Given the description of an element on the screen output the (x, y) to click on. 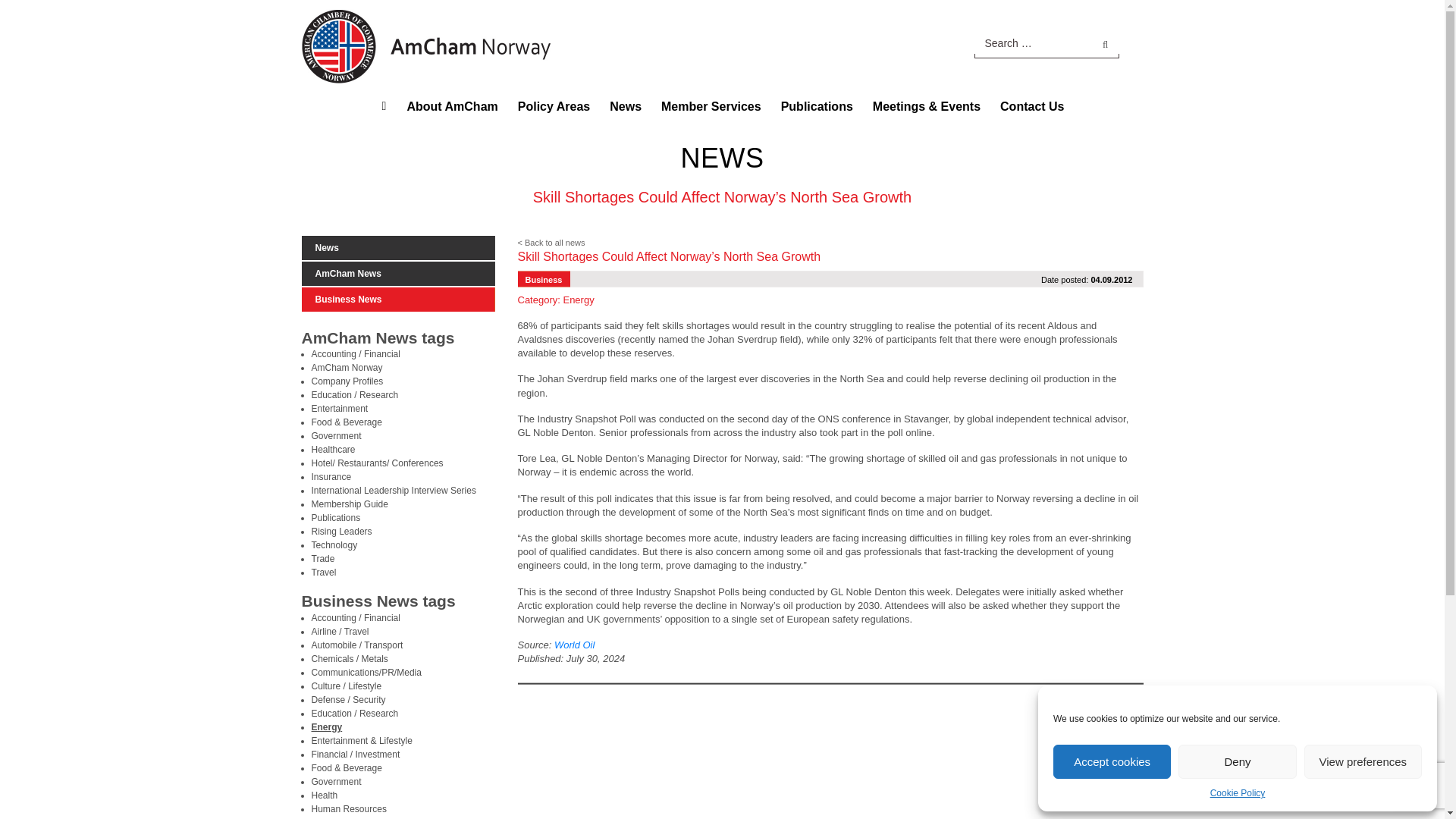
Deny (1236, 761)
Policy Areas (553, 106)
Member Services (710, 106)
About AmCham (451, 106)
News (624, 106)
View preferences (1363, 761)
Search for: (1046, 42)
Cookie Policy (1237, 793)
Publications (817, 106)
Accept cookies (1111, 761)
